Given the description of an element on the screen output the (x, y) to click on. 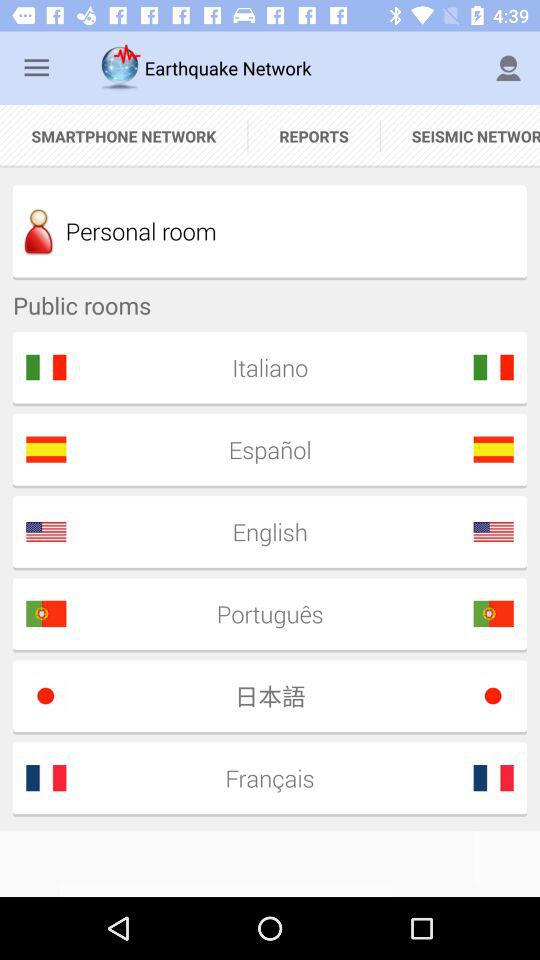
swipe to smartphone network icon (123, 136)
